Given the description of an element on the screen output the (x, y) to click on. 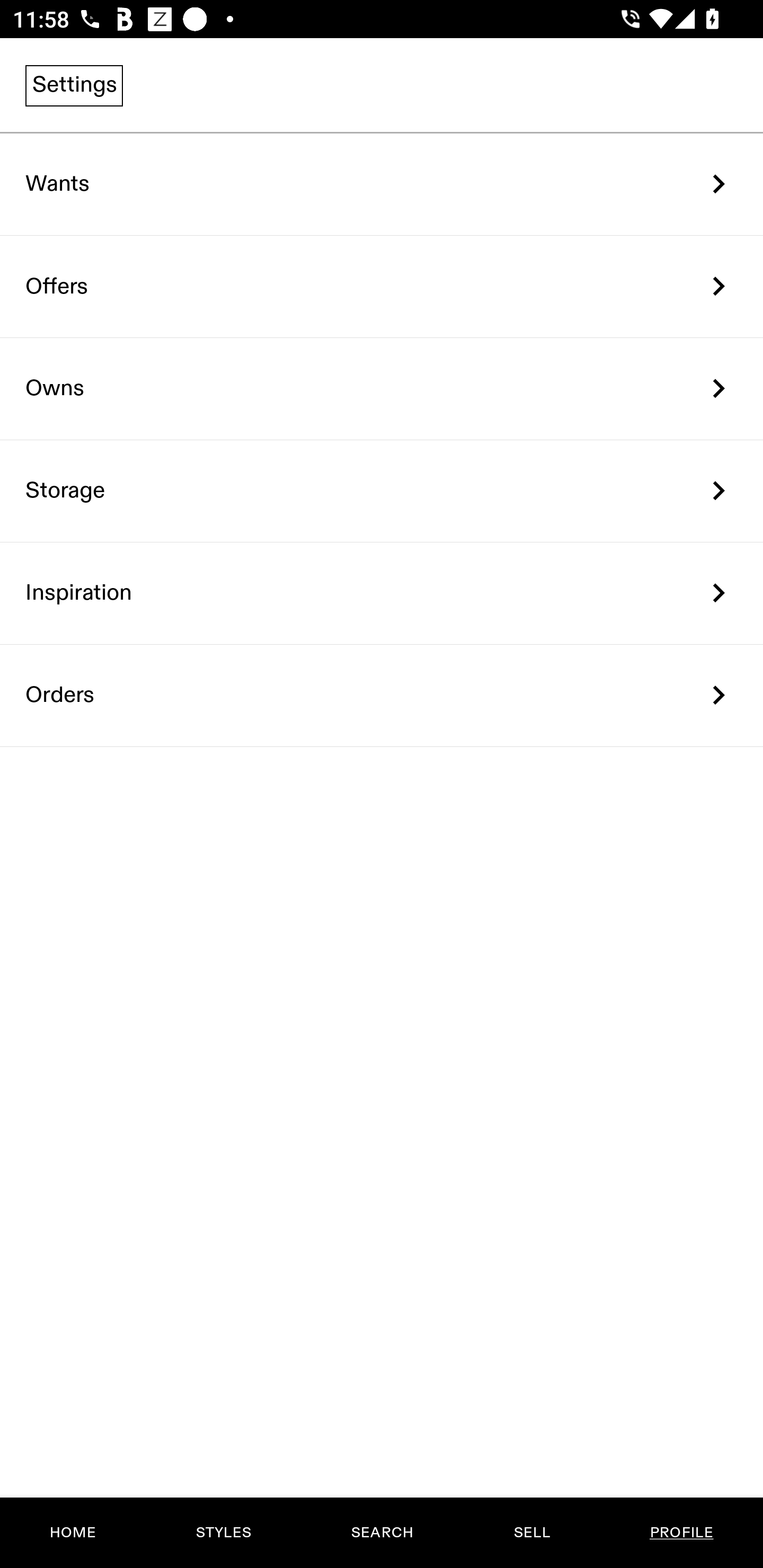
Settings (73, 85)
Wants (381, 184)
Offers (381, 286)
Owns (381, 388)
Storage (381, 491)
Inspiration (381, 593)
Orders (381, 695)
HOME (72, 1532)
STYLES (222, 1532)
SEARCH (381, 1532)
SELL (531, 1532)
PROFILE (681, 1532)
